Given the description of an element on the screen output the (x, y) to click on. 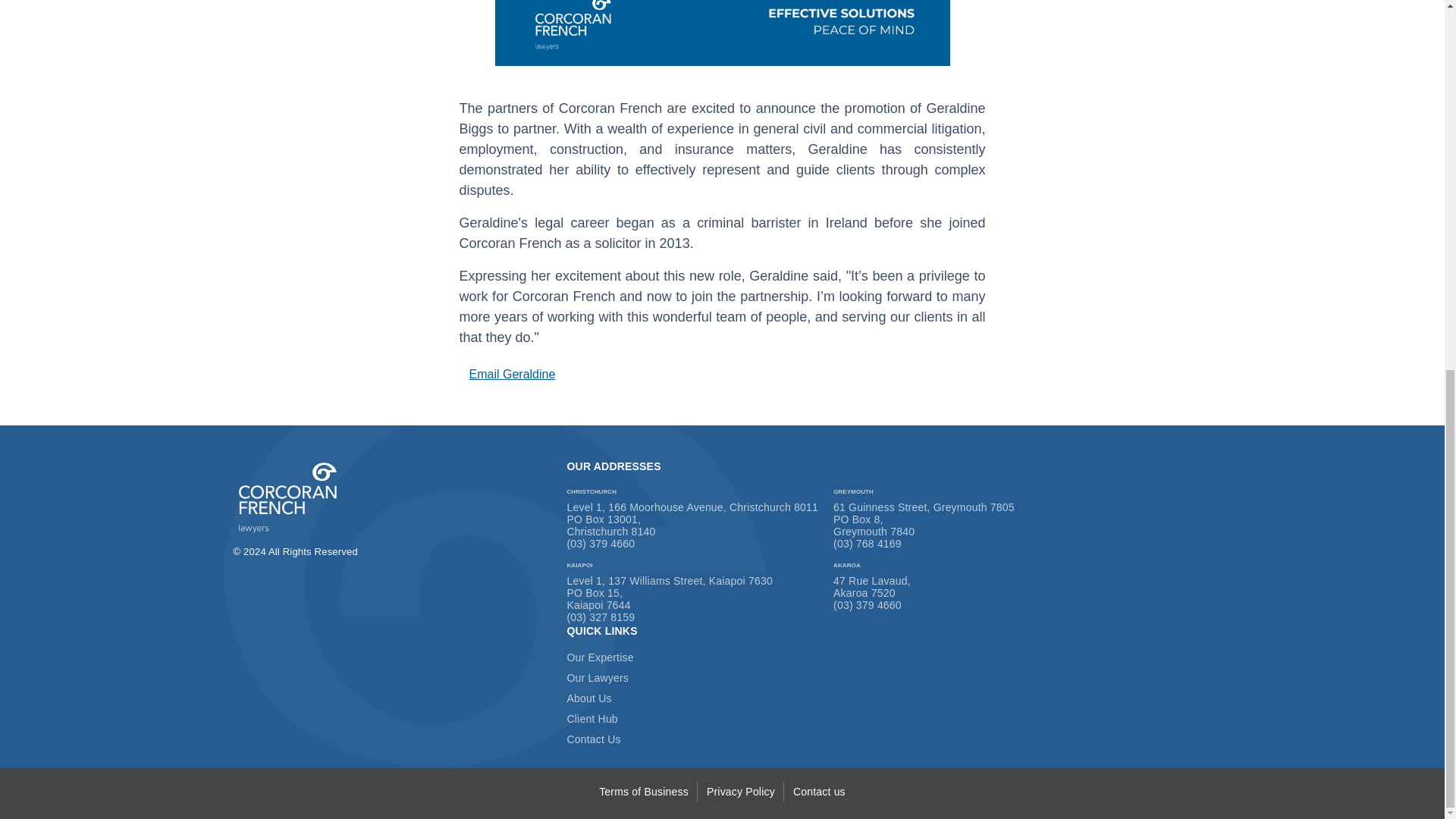
Contact us (819, 791)
Our Expertise (599, 657)
Our Lawyers (597, 677)
About Us (588, 698)
Client Hub (591, 718)
Terms of Business (643, 791)
Privacy Policy (740, 791)
Contact Us (593, 739)
